Given the description of an element on the screen output the (x, y) to click on. 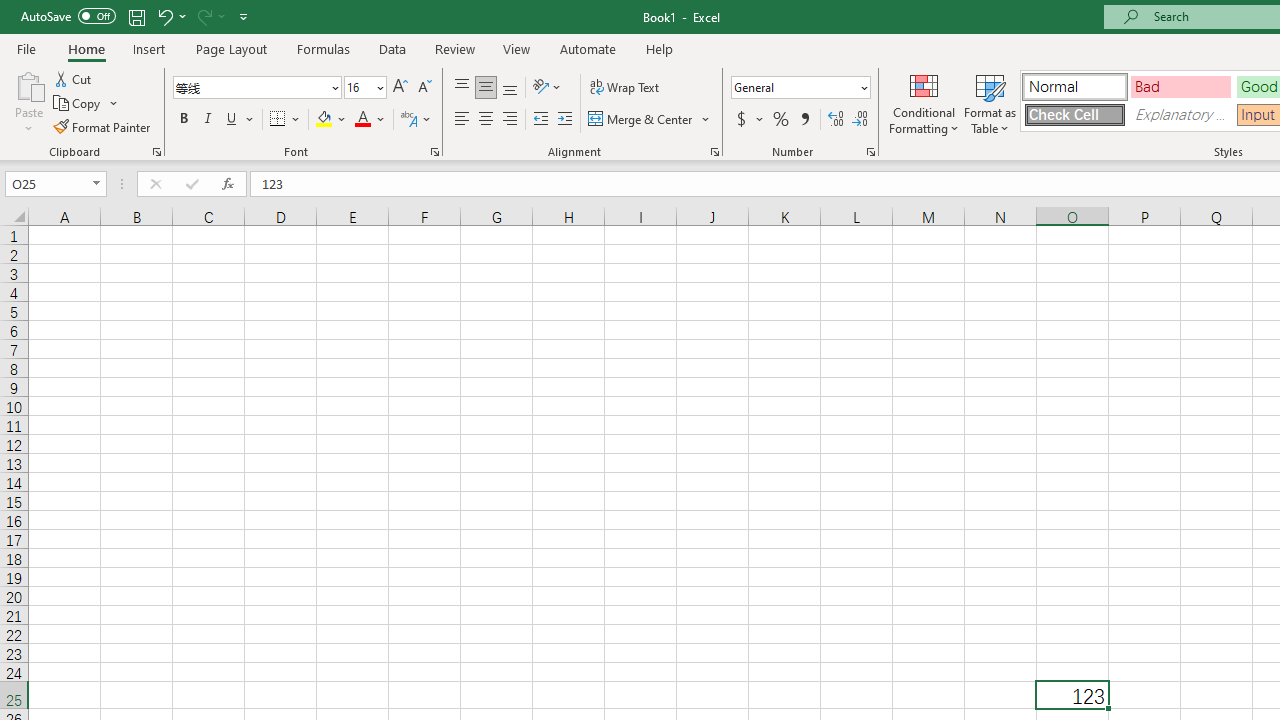
Check Cell (1074, 114)
Align Left (461, 119)
Format as Table (990, 102)
Office Clipboard... (156, 151)
Orientation (547, 87)
Format Cell Number (870, 151)
Number Format (800, 87)
Copy (85, 103)
Increase Decimal (836, 119)
Show Phonetic Field (408, 119)
